Given the description of an element on the screen output the (x, y) to click on. 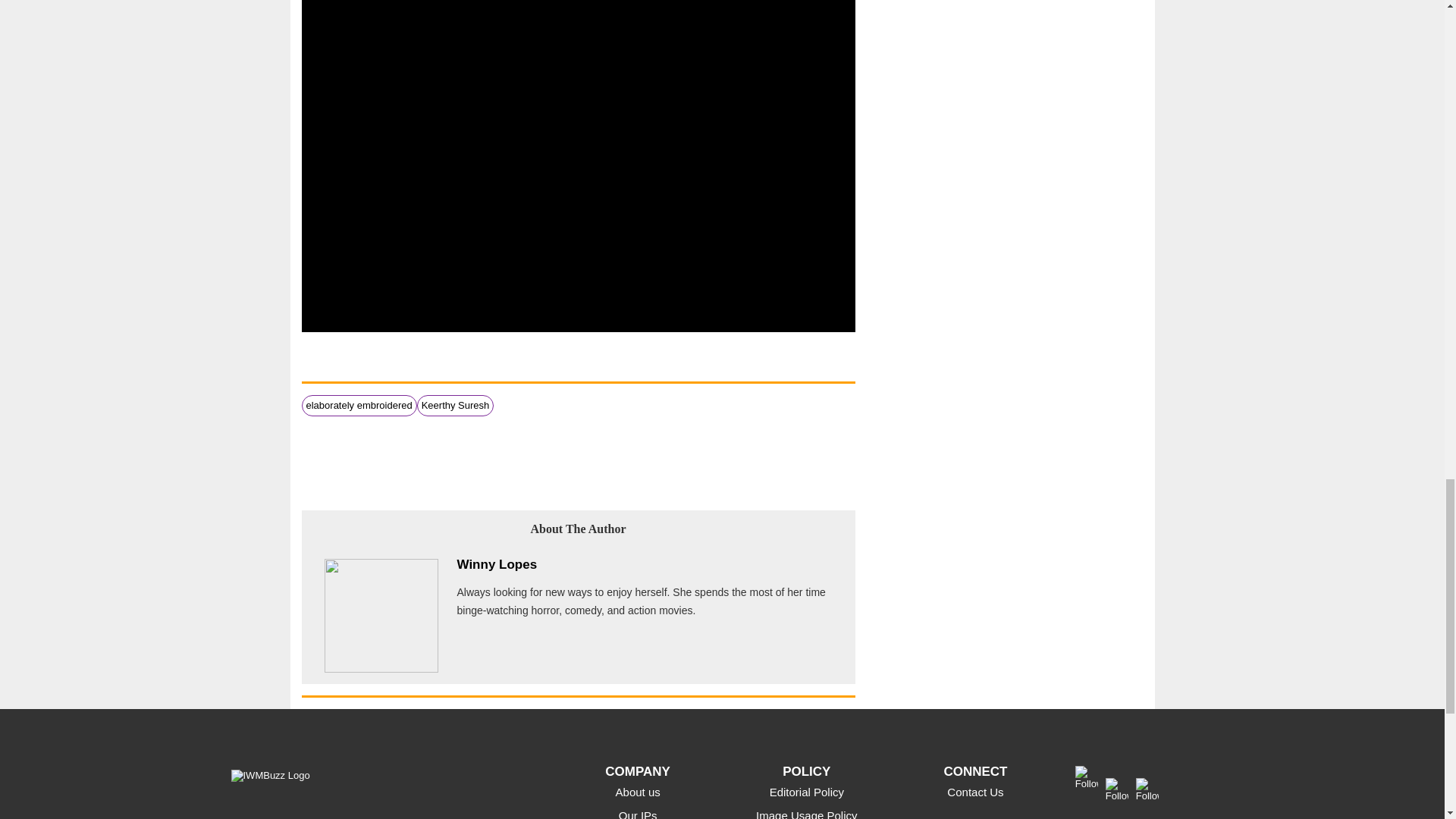
Winny Lopes (497, 564)
Keerthy Suresh (455, 405)
elaborately embroidered (358, 405)
